Given the description of an element on the screen output the (x, y) to click on. 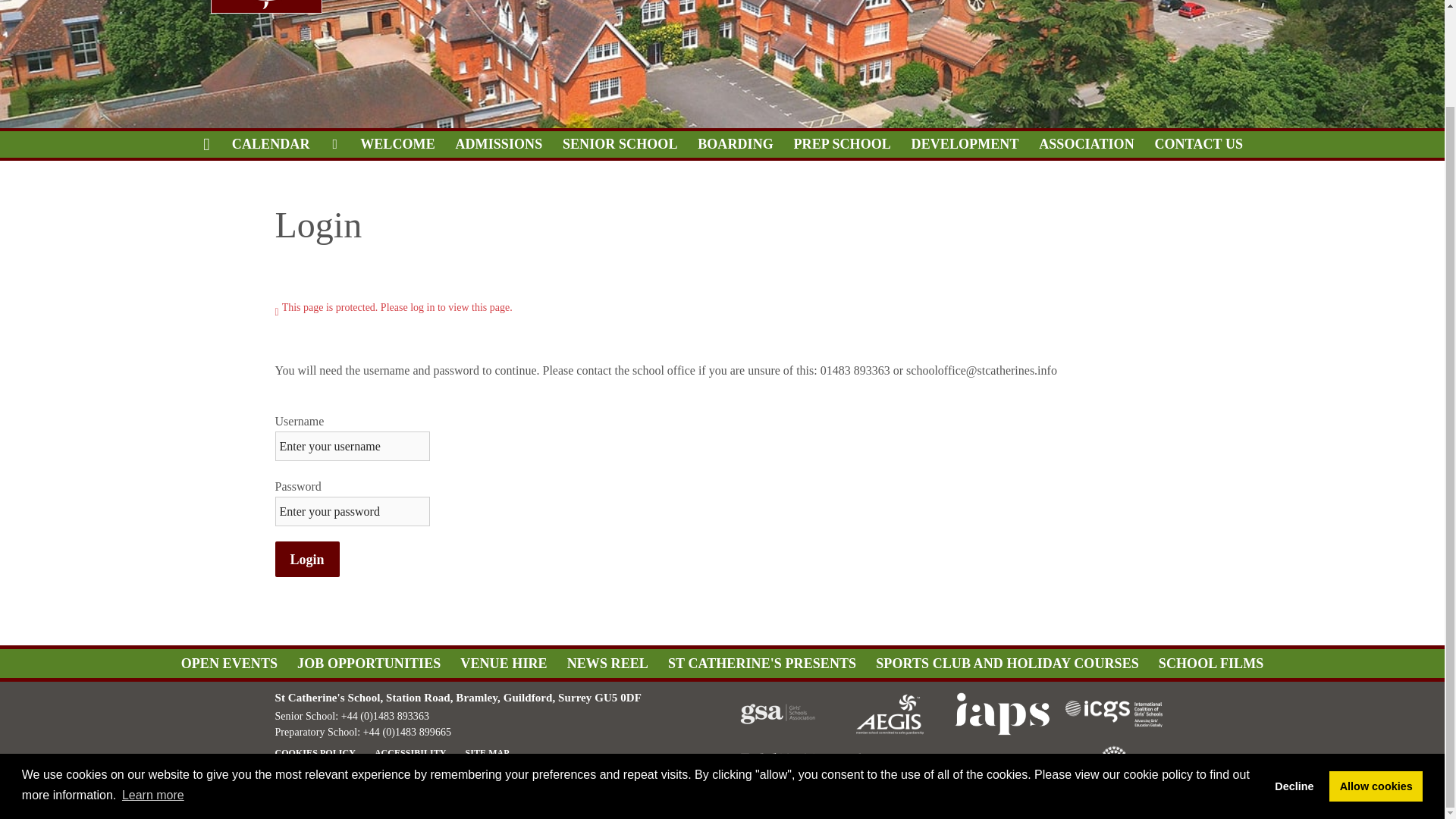
Powered by Finalsite opens in a new window (1117, 795)
Learn more (152, 683)
Decline (1294, 675)
Allow cookies (1375, 675)
Login (307, 559)
